Given the description of an element on the screen output the (x, y) to click on. 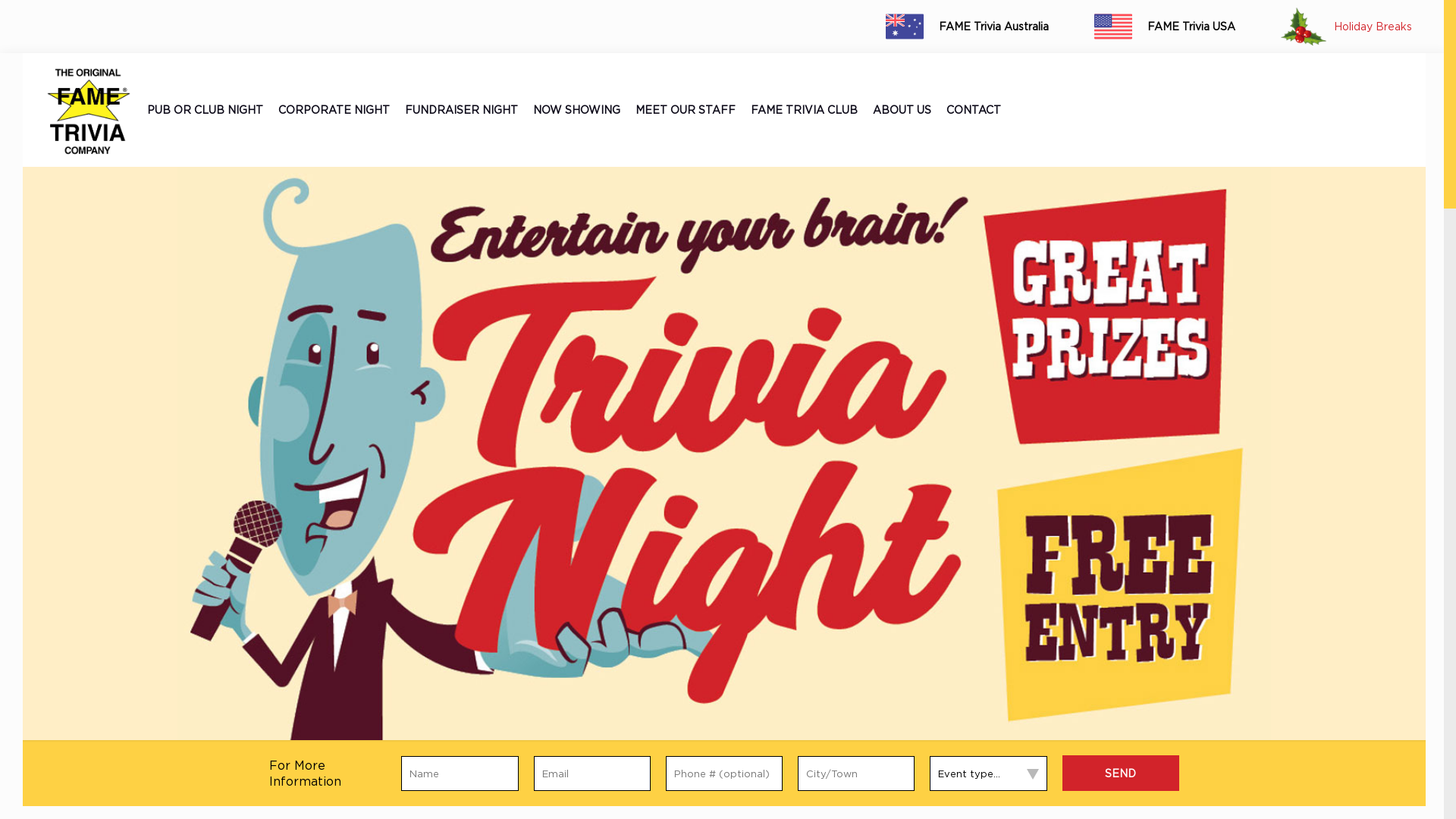
FUNDRAISER NIGHT Element type: text (461, 109)
MEET OUR STAFF Element type: text (685, 109)
Fame Trivia Australia Element type: hover (87, 109)
NOW SHOWING Element type: text (576, 109)
FAME Trivia Australia Element type: text (955, 26)
PUB OR CLUB NIGHT Element type: text (204, 109)
SEND Element type: text (1120, 772)
FAME TRIVIA CLUB Element type: text (804, 109)
CORPORATE NIGHT Element type: text (333, 109)
CONTACT Element type: text (973, 109)
ABOUT US Element type: text (901, 109)
Holiday Breaks Element type: text (1334, 26)
FAME Trivia USA Element type: text (1152, 26)
